Given the description of an element on the screen output the (x, y) to click on. 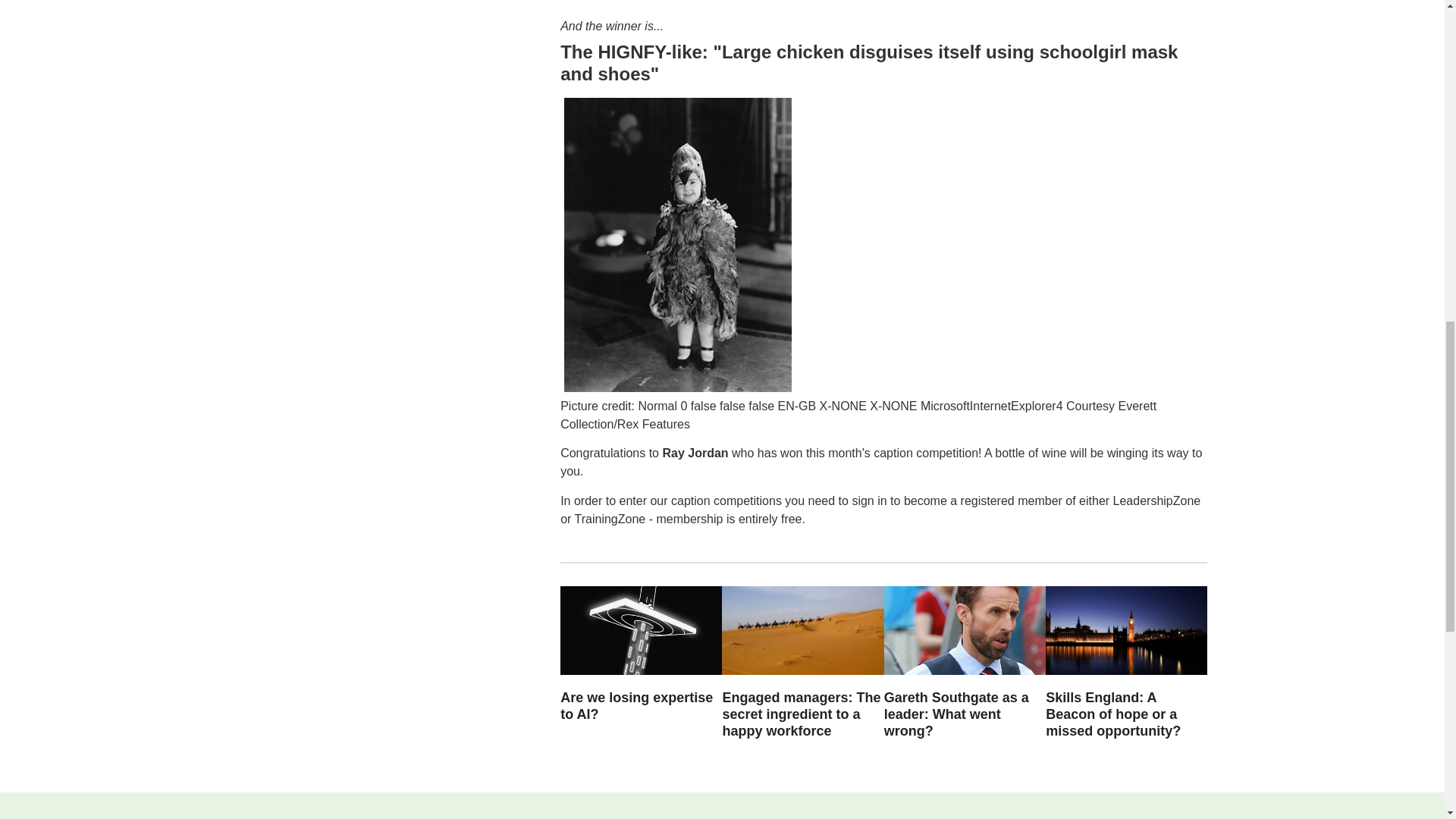
Are we losing expertise to AI? (636, 705)
